Given the description of an element on the screen output the (x, y) to click on. 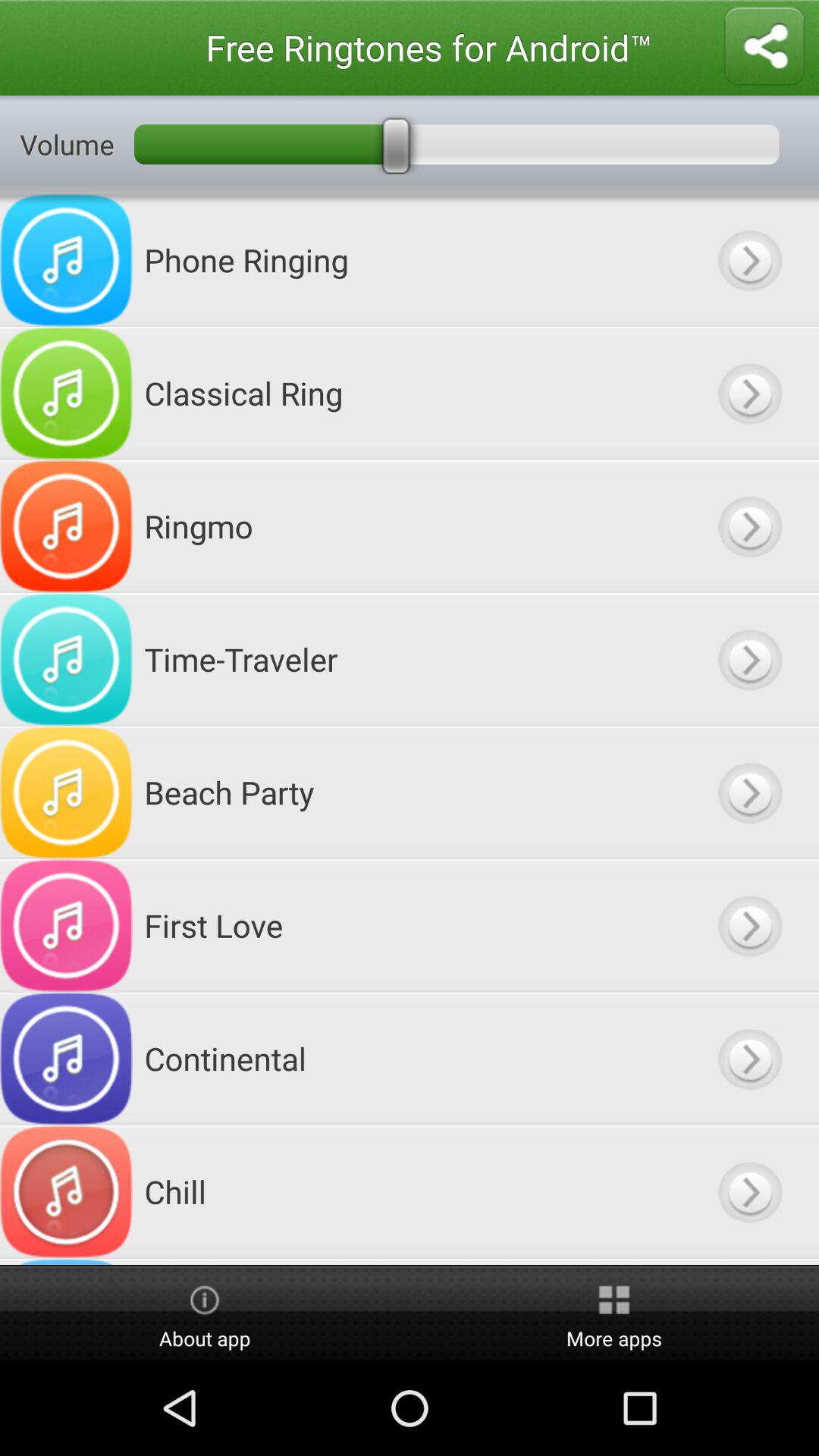
play button (749, 792)
